Given the description of an element on the screen output the (x, y) to click on. 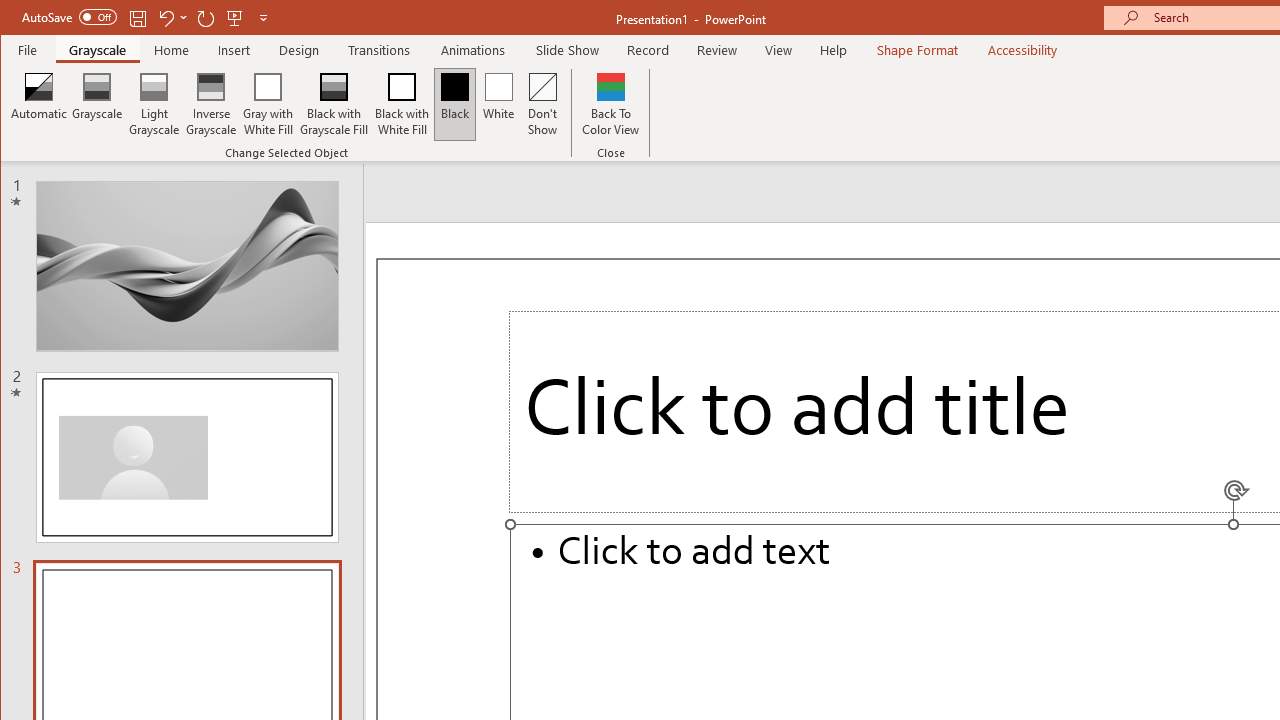
White (498, 104)
Grayscale (97, 104)
Inverse Grayscale (211, 104)
